Given the description of an element on the screen output the (x, y) to click on. 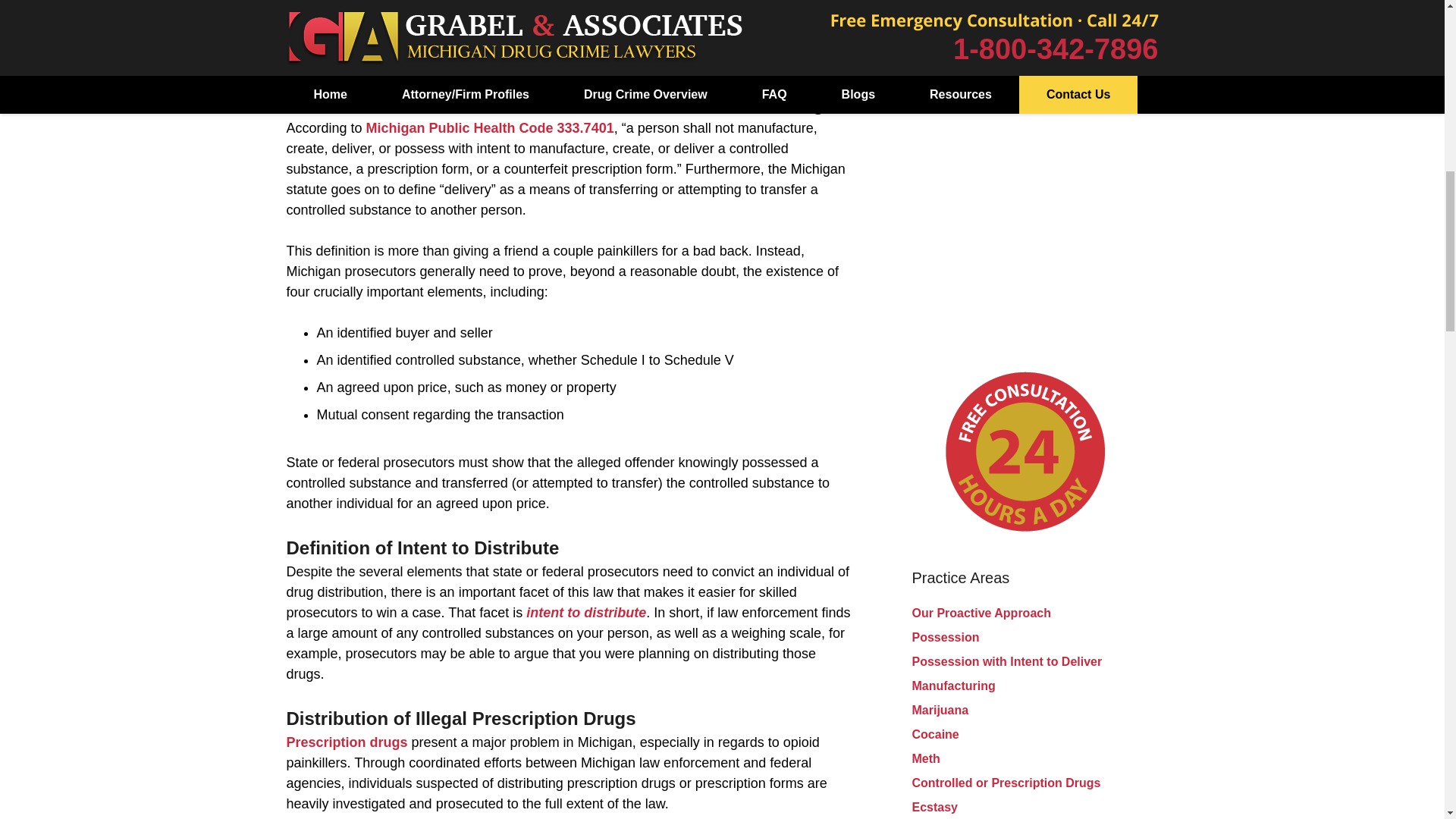
contact us online (539, 59)
Our Proactive Approach (980, 612)
Prescription drugs (346, 742)
Michigan Public Health Code 333.7401 (490, 127)
intent to distribute (585, 612)
Marijuana (939, 709)
CONTACT US NOW (1024, 16)
Possession with Intent to Deliver (1006, 661)
Manufacturing (952, 685)
Possession (944, 636)
